Given the description of an element on the screen output the (x, y) to click on. 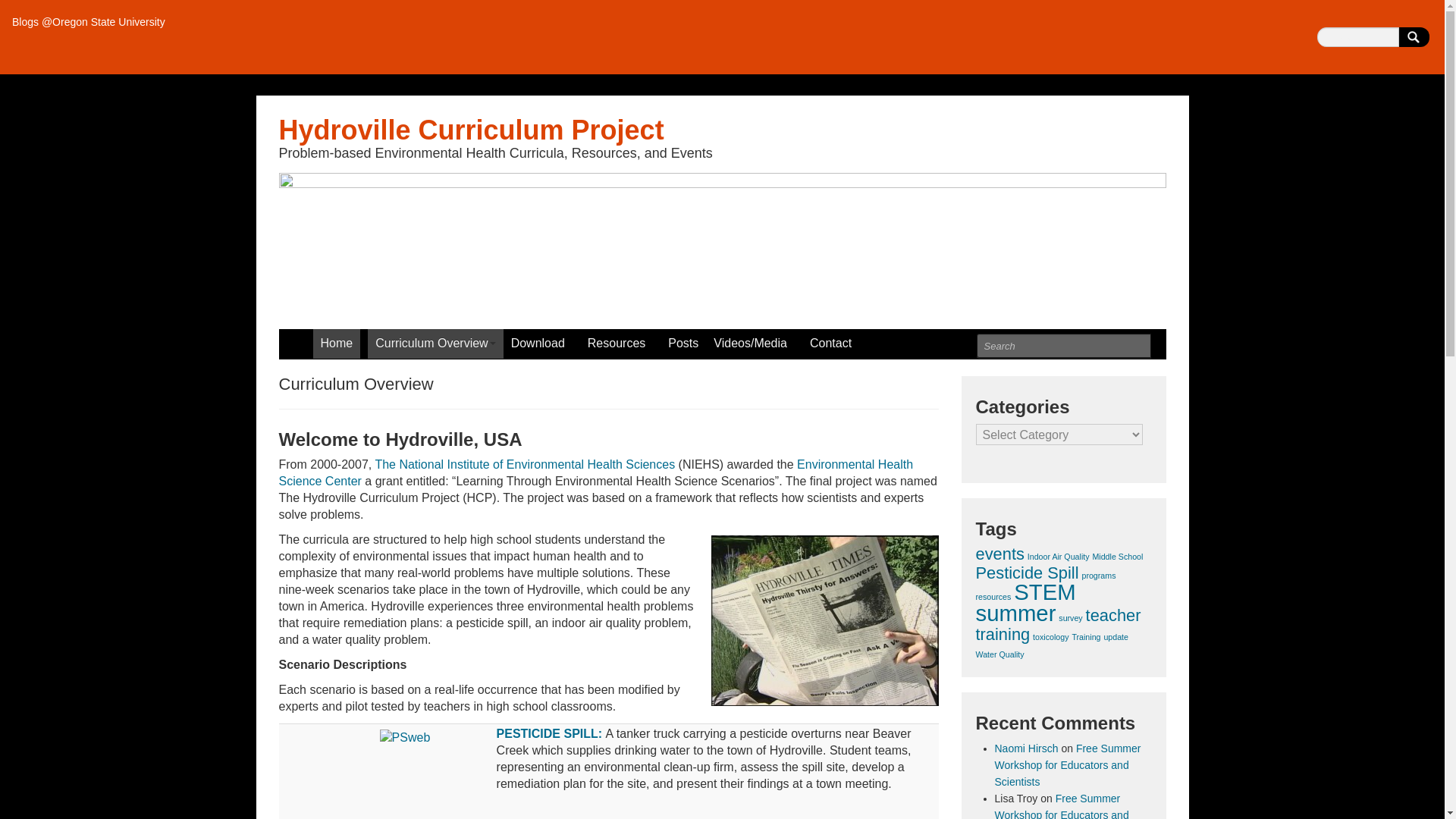
Environmental Health Sciences Center (596, 472)
Resources (620, 343)
NIEHS (524, 463)
Hydroville Curriculum Project (722, 243)
Home (336, 343)
PESTICIDE SPILL: (550, 733)
Environmental Health Science Center (596, 472)
Posts (683, 343)
Hydroville Curriculum Project (471, 129)
Skip to primary content (341, 337)
Download (541, 343)
Hydroville Curriculum Project (471, 129)
Skip to primary content (341, 337)
The National Institute of Environmental Health Sciences (524, 463)
Contact (830, 343)
